Given the description of an element on the screen output the (x, y) to click on. 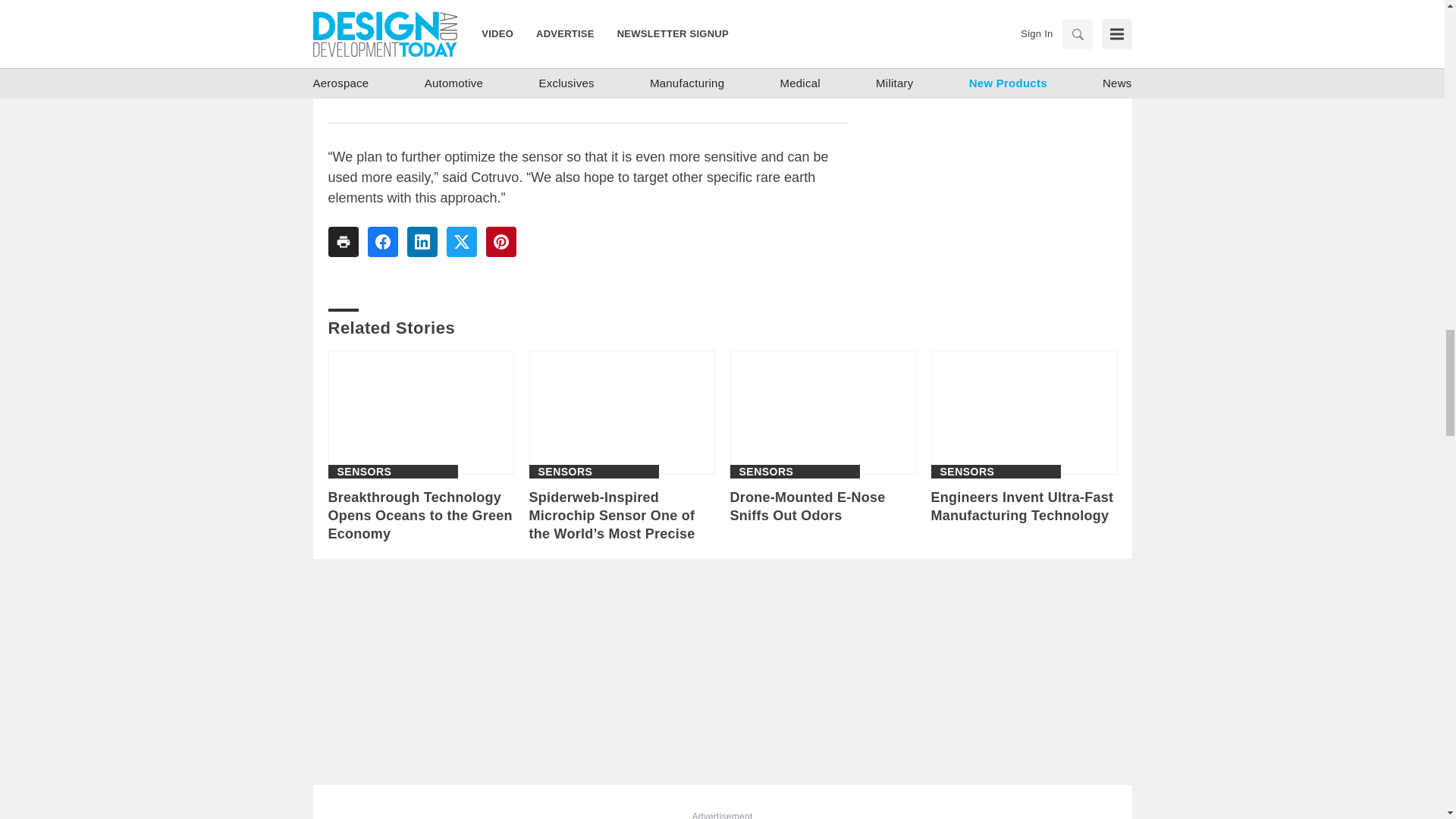
Share To linkedin (421, 241)
Share To facebook (381, 241)
Share To pinterest (499, 241)
Share To twitter (460, 241)
Share To print (342, 241)
